Given the description of an element on the screen output the (x, y) to click on. 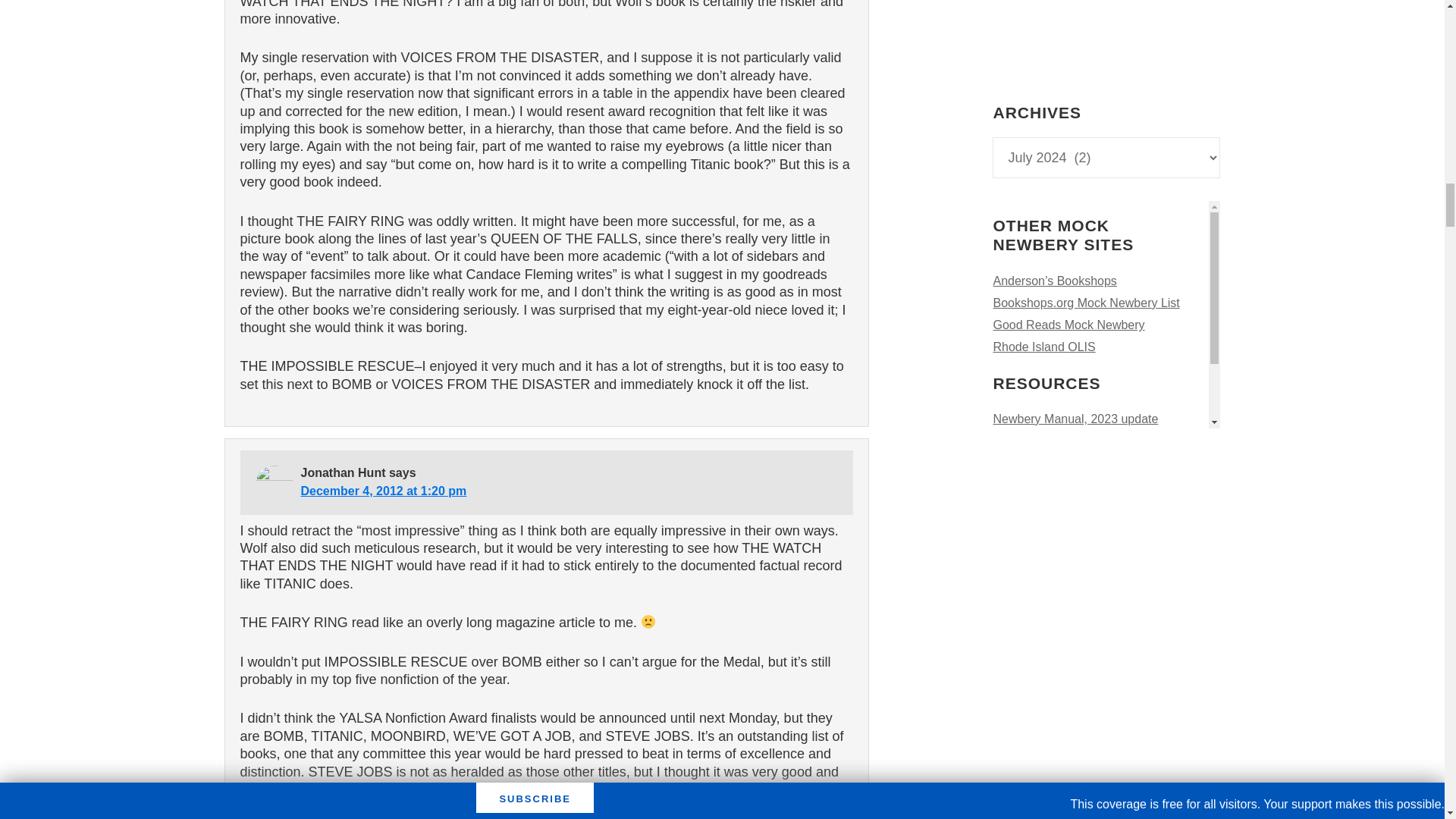
3rd party ad content (1106, 32)
